Given the description of an element on the screen output the (x, y) to click on. 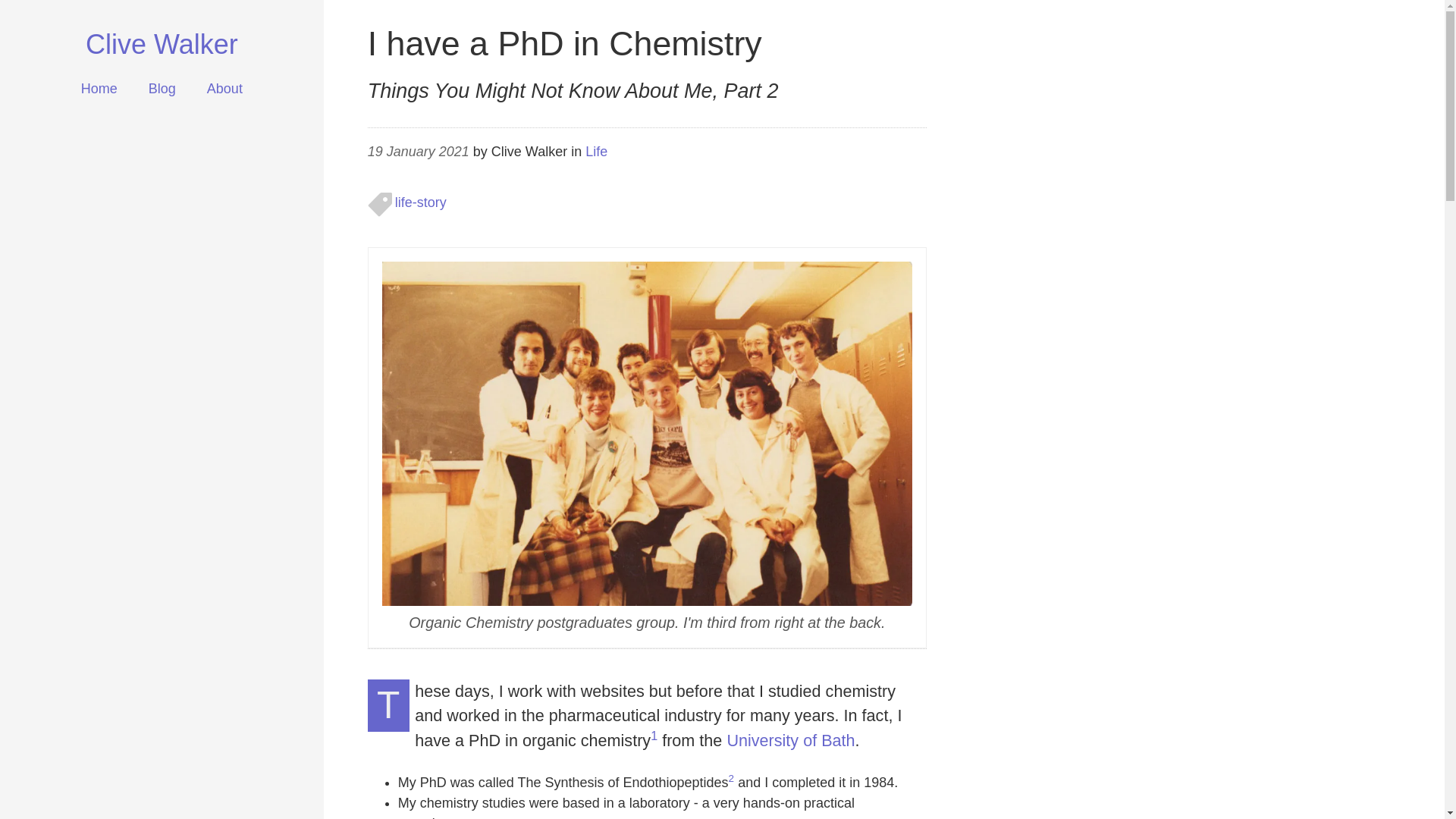
Blog (162, 89)
Life (596, 152)
Clive Walker (161, 44)
life-story (420, 202)
Home (99, 89)
University of Bath (790, 741)
About (224, 89)
